Given the description of an element on the screen output the (x, y) to click on. 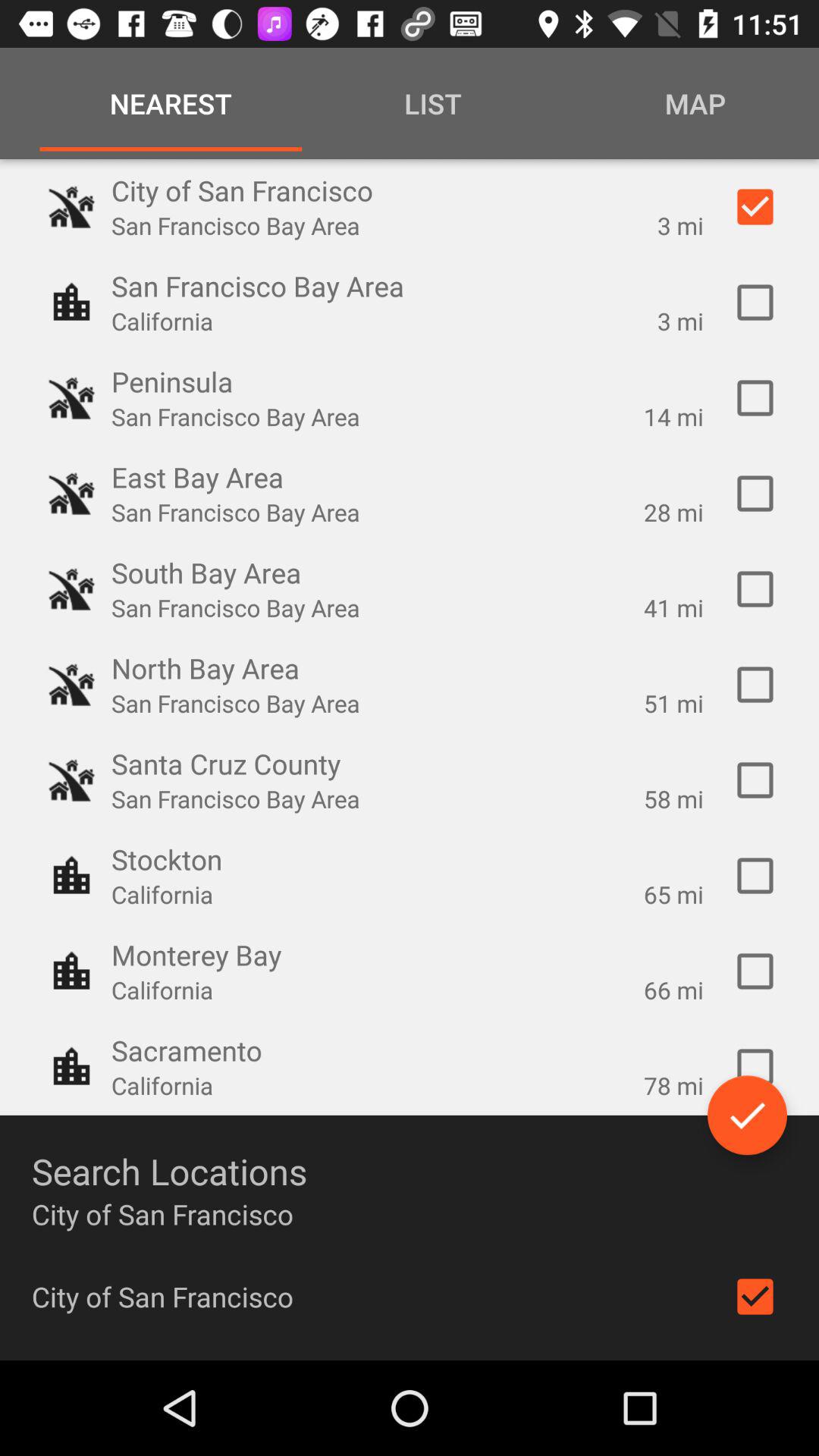
select sacramento option (755, 1066)
